Given the description of an element on the screen output the (x, y) to click on. 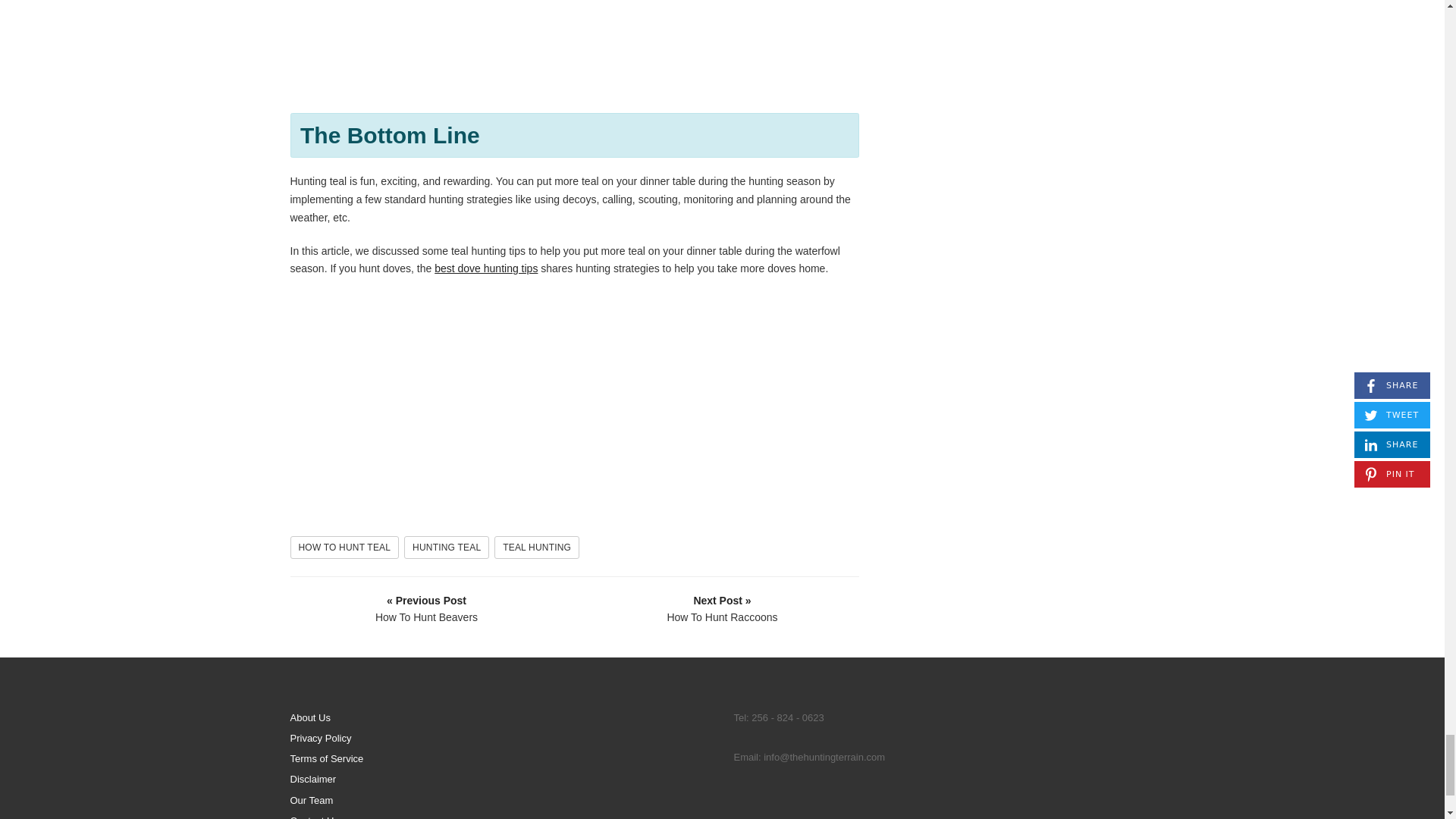
How To Hunt Raccoons (722, 608)
hunting teal Tag (446, 547)
how to hunt teal Tag (343, 547)
teal hunting Tag (537, 547)
How To Hunt Beavers (427, 608)
